Given the description of an element on the screen output the (x, y) to click on. 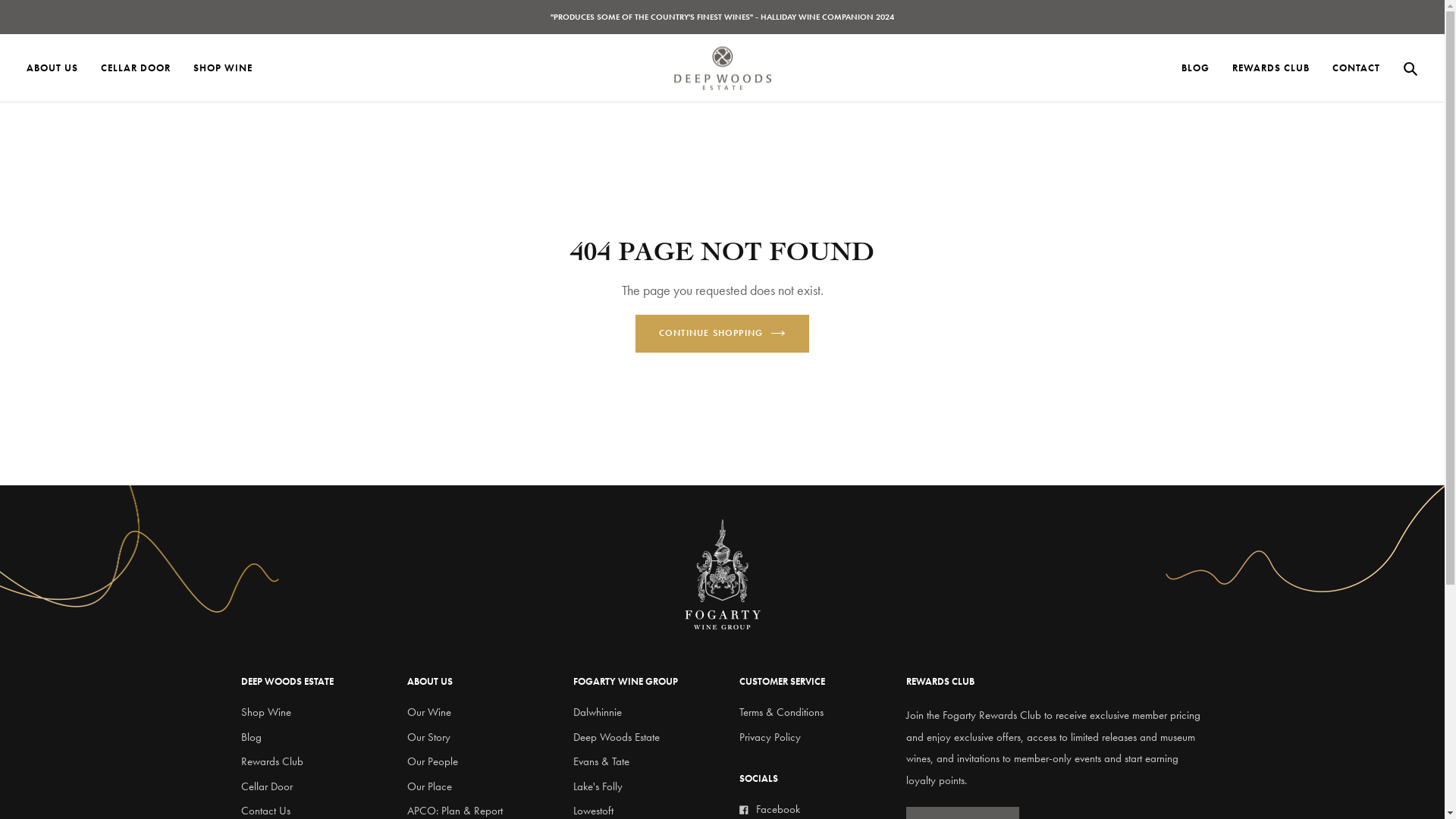
CELLAR DOOR Element type: text (135, 68)
Terms & Conditions Element type: text (781, 711)
CONTACT Element type: text (1356, 68)
Deep Woods Estate Element type: text (616, 736)
Lowestoft Element type: text (593, 810)
CONTINUE SHOPPING Element type: text (722, 333)
BLOG Element type: text (1195, 68)
Dalwhinnie Element type: text (597, 711)
APCO: Plan & Report Element type: text (454, 810)
Lake's Folly Element type: text (597, 785)
Our Story Element type: text (428, 736)
ABOUT US Element type: text (52, 68)
Contact Us Element type: text (265, 810)
Privacy Policy Element type: text (769, 736)
Rewards Club Element type: text (272, 760)
Evans & Tate Element type: text (601, 760)
Shop Wine Element type: text (266, 711)
SHOP WINE Element type: text (222, 68)
REWARDS CLUB Element type: text (1270, 68)
Blog Element type: text (251, 736)
Facebook Element type: text (814, 809)
Our Wine Element type: text (429, 711)
Our Place Element type: text (429, 785)
Cellar Door Element type: text (266, 785)
Our People Element type: text (432, 760)
